Given the description of an element on the screen output the (x, y) to click on. 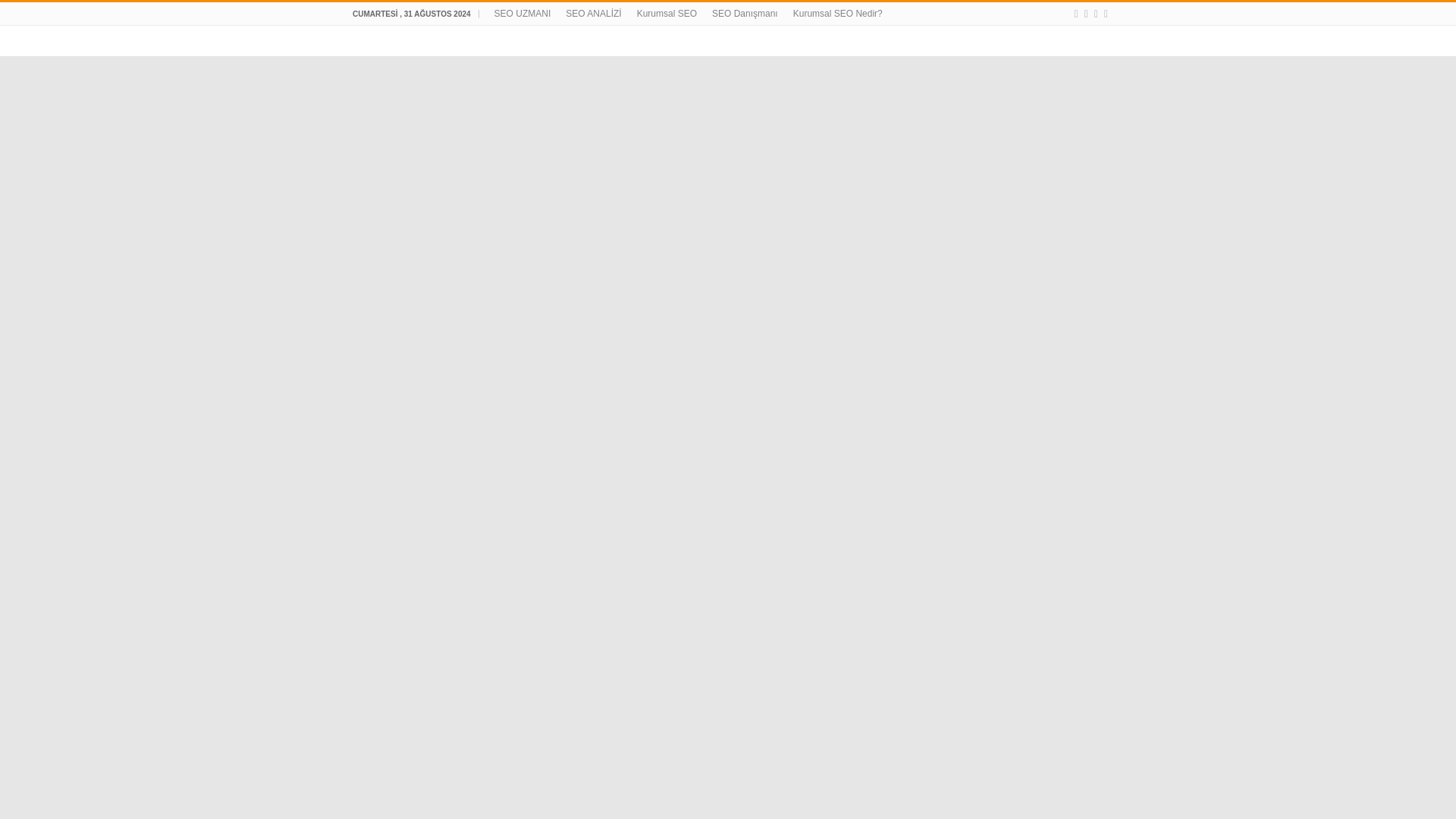
SEO UZMANI (522, 13)
Kurumsal SEO Nedir? (837, 13)
Kurumsal SEO (666, 13)
